Given the description of an element on the screen output the (x, y) to click on. 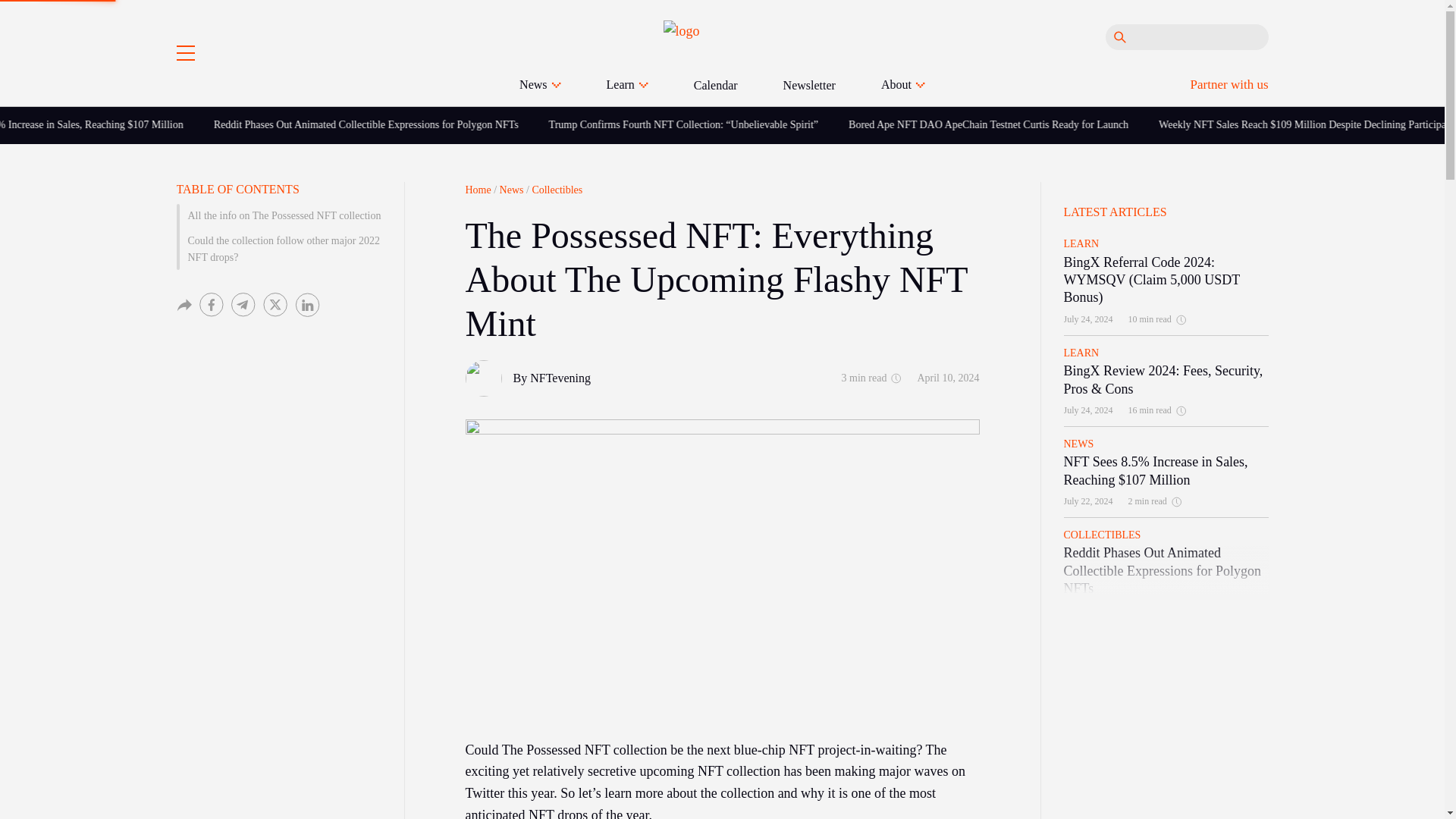
All the info on The Possessed NFT collection (278, 215)
Partner with us (1229, 83)
News (539, 84)
Search (1119, 36)
Could the collection follow other major 2022 NFT drops? (278, 250)
